Given the description of an element on the screen output the (x, y) to click on. 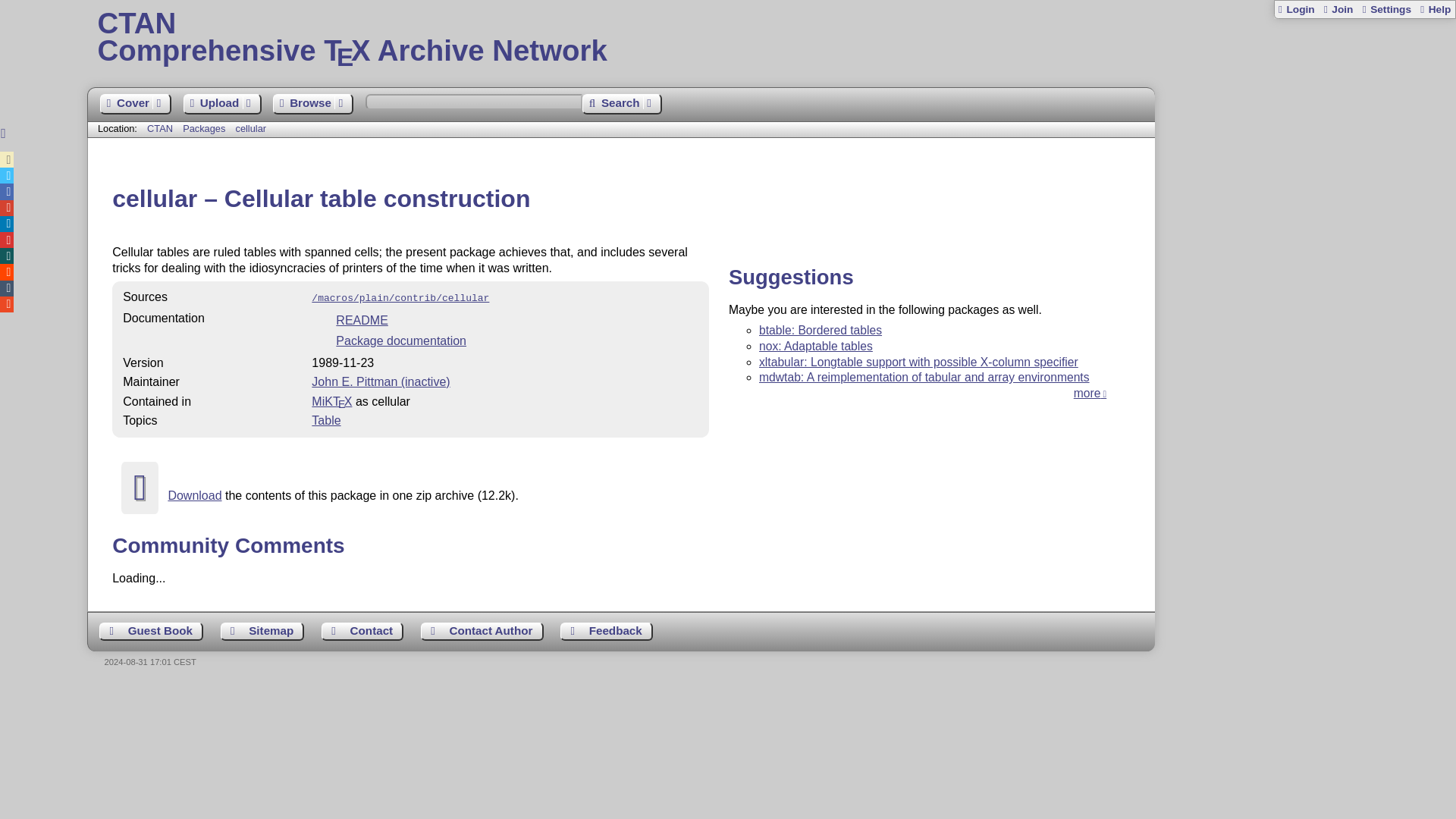
CTAN (160, 128)
Register a new personal account on this site (1337, 8)
Get help on how to contact an author (481, 631)
CTAN lion drawing by Duane Bibby (1364, 183)
Settings (1385, 8)
Login (1296, 8)
Help (1434, 8)
Get contact information for the Web site (362, 631)
MiKTEX (771, 37)
